Given the description of an element on the screen output the (x, y) to click on. 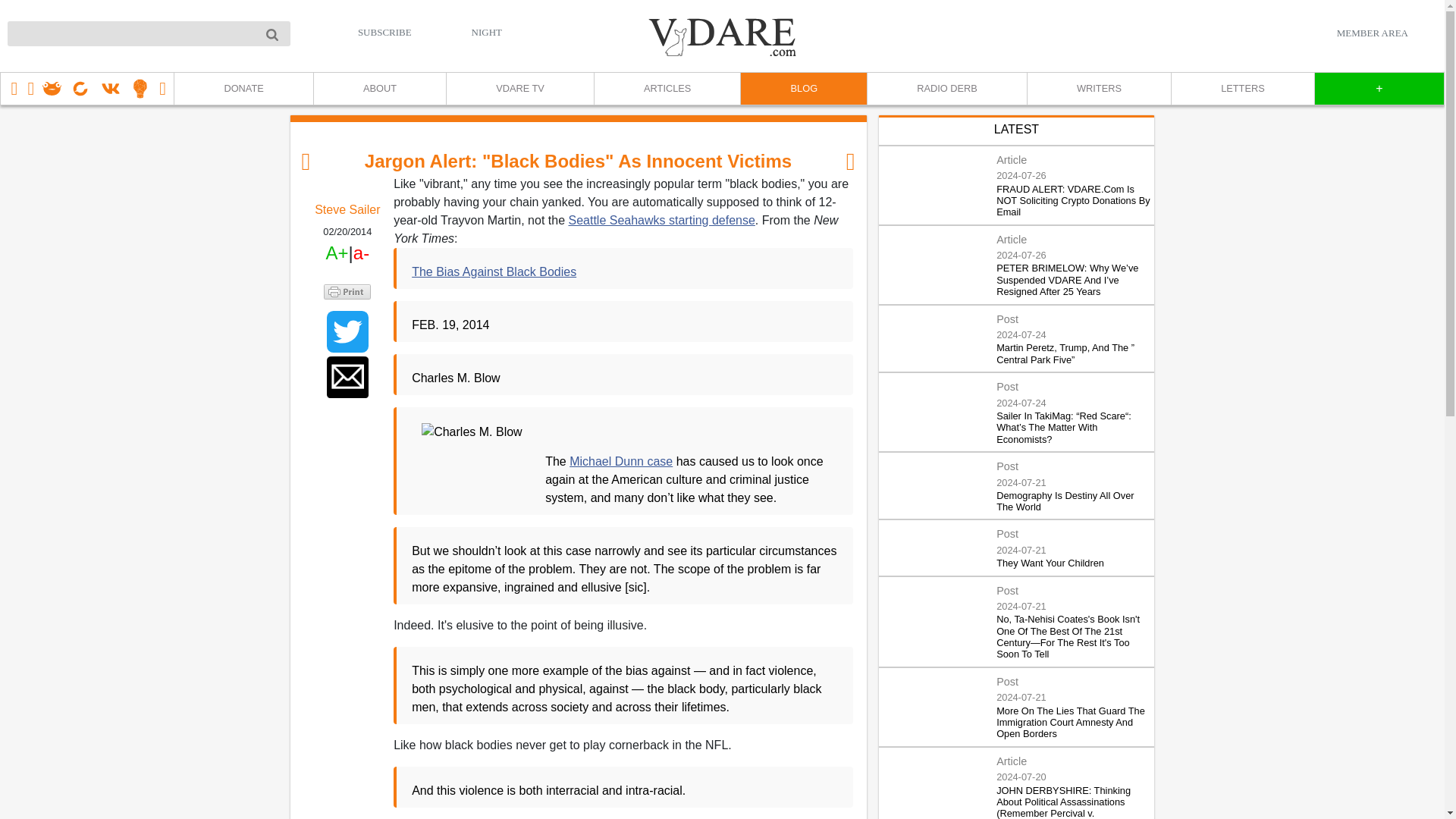
Printer Friendly and PDF (347, 290)
DONATE (243, 88)
Share to Email (347, 377)
MEMBER AREA (1371, 32)
RADIO DERB (946, 88)
LETTERS (1242, 88)
ABOUT (379, 88)
Share to Twitter (347, 331)
BLOG (802, 88)
Charles M. Blow (478, 480)
